Given the description of an element on the screen output the (x, y) to click on. 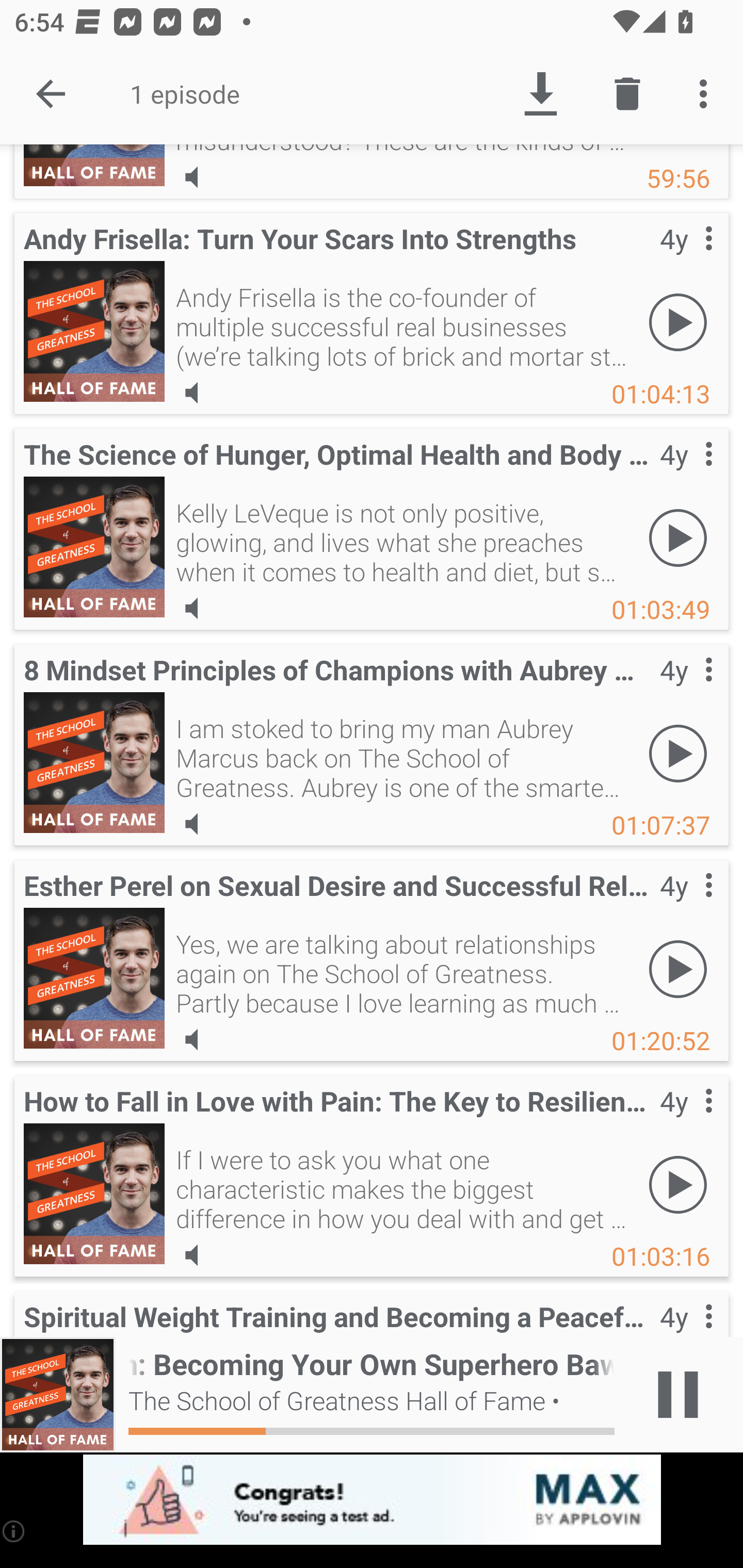
Done (50, 93)
Download (540, 93)
Delete episode (626, 93)
More options (706, 93)
Contextual menu (685, 258)
Andy Frisella: Turn Your Scars Into Strengths (93, 330)
Play (677, 322)
Contextual menu (685, 474)
Play (677, 537)
Contextual menu (685, 689)
Play (677, 753)
Contextual menu (685, 905)
Play (677, 968)
Contextual menu (685, 1120)
Play (677, 1184)
Play / Pause (677, 1394)
app-monetization (371, 1500)
(i) (14, 1531)
